Given the description of an element on the screen output the (x, y) to click on. 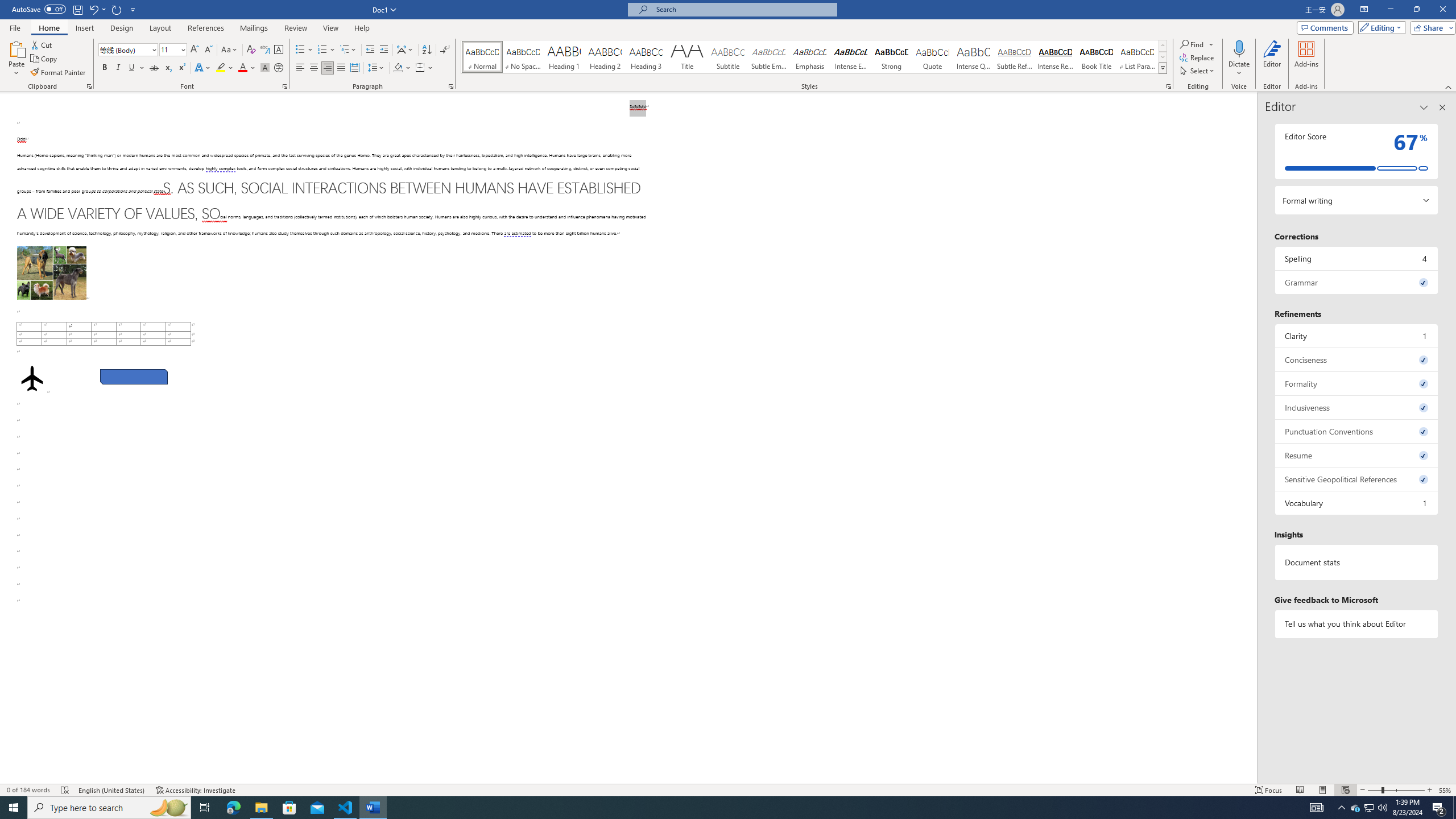
Tell us what you think about Editor (1356, 624)
Subtitle (727, 56)
Quote (932, 56)
Clear Formatting (250, 49)
Row up (1162, 45)
Asian Layout (405, 49)
Strong (891, 56)
Intense Quote (973, 56)
